Given the description of an element on the screen output the (x, y) to click on. 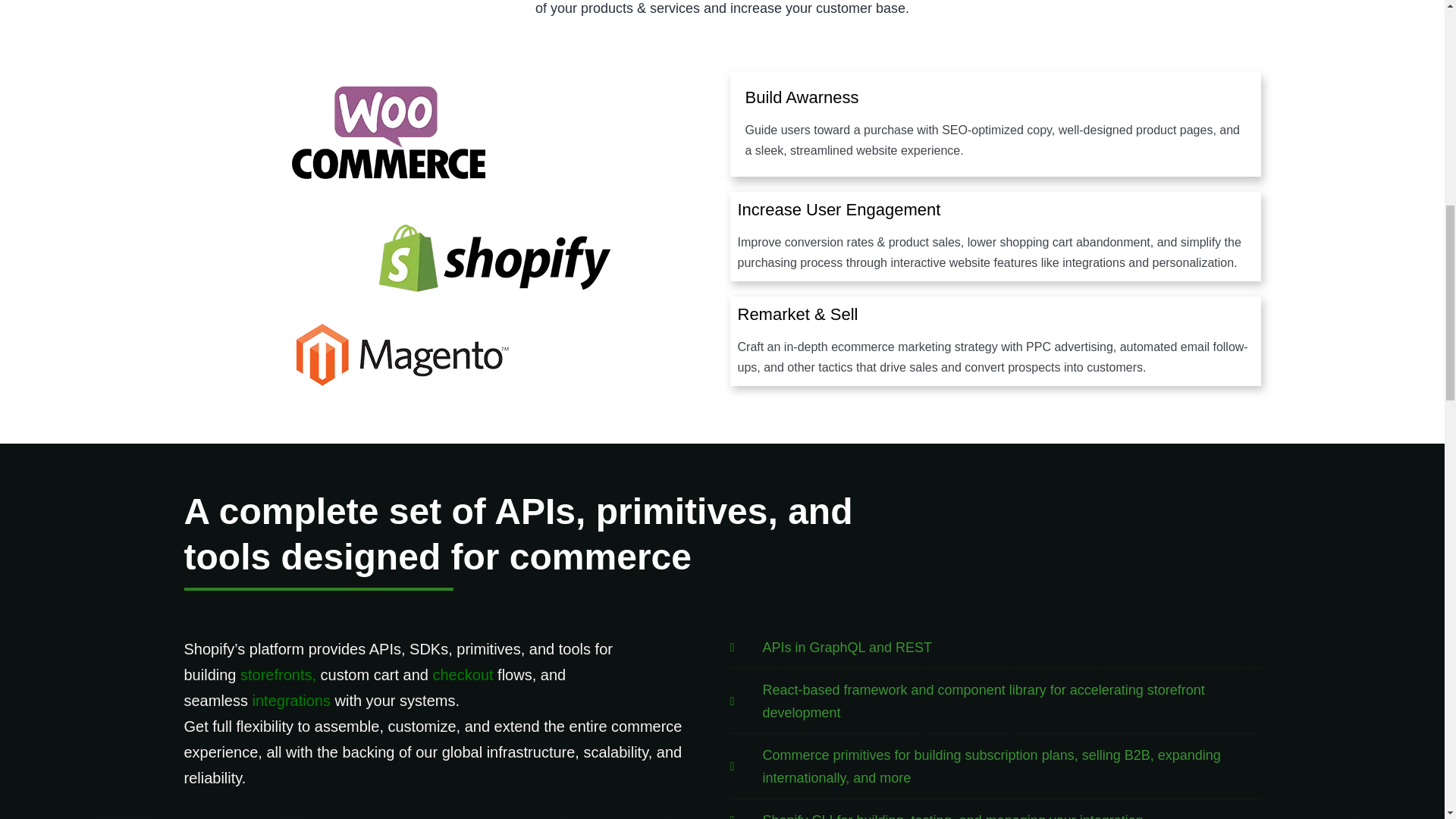
checkout (462, 674)
integrations (290, 700)
storefronts (275, 674)
